Given the description of an element on the screen output the (x, y) to click on. 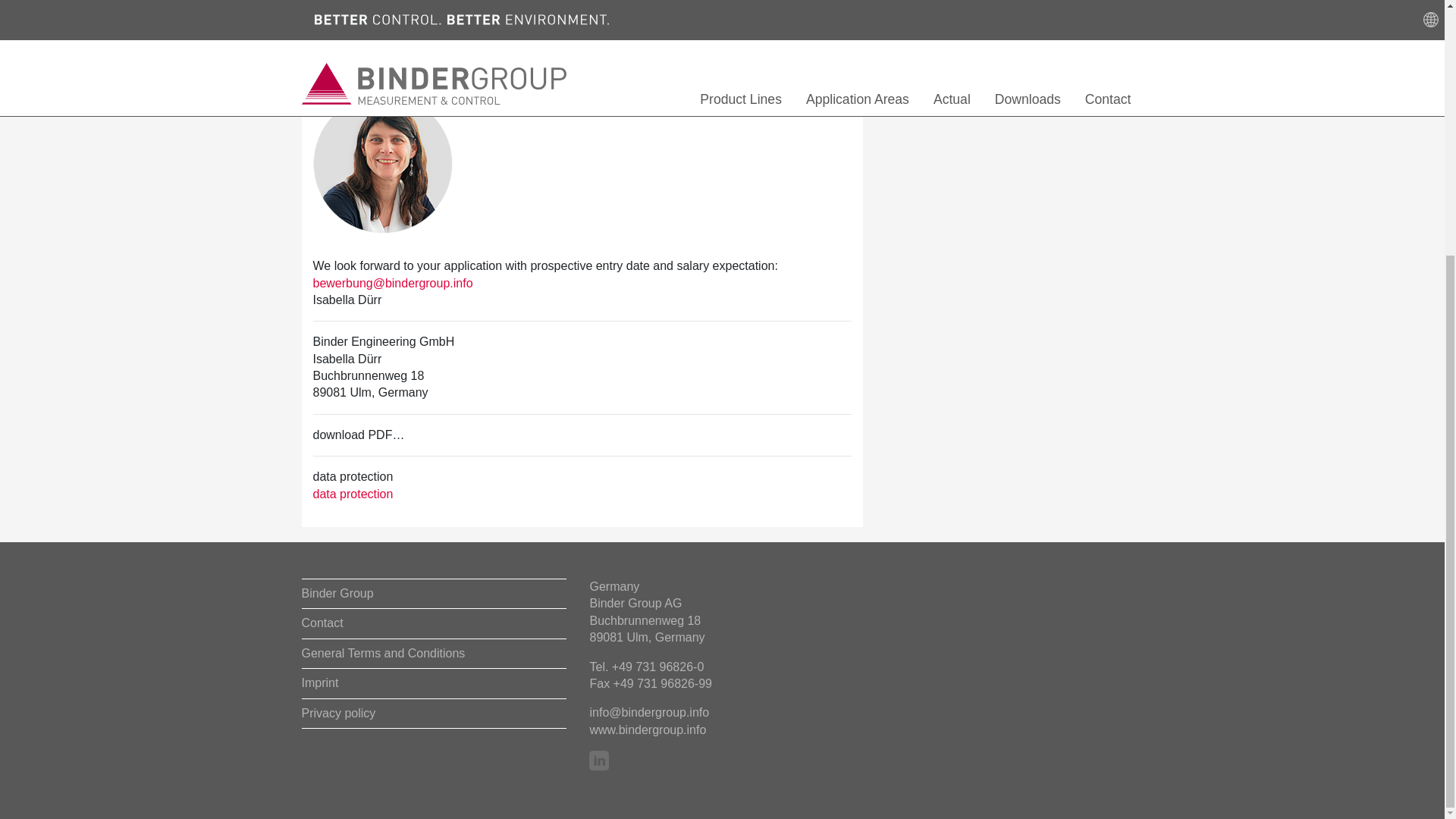
Imprint (434, 683)
data protection (353, 493)
Binder Group (434, 594)
General Terms and Conditions (434, 654)
Privacy policy (434, 713)
Contact (434, 623)
